Given the description of an element on the screen output the (x, y) to click on. 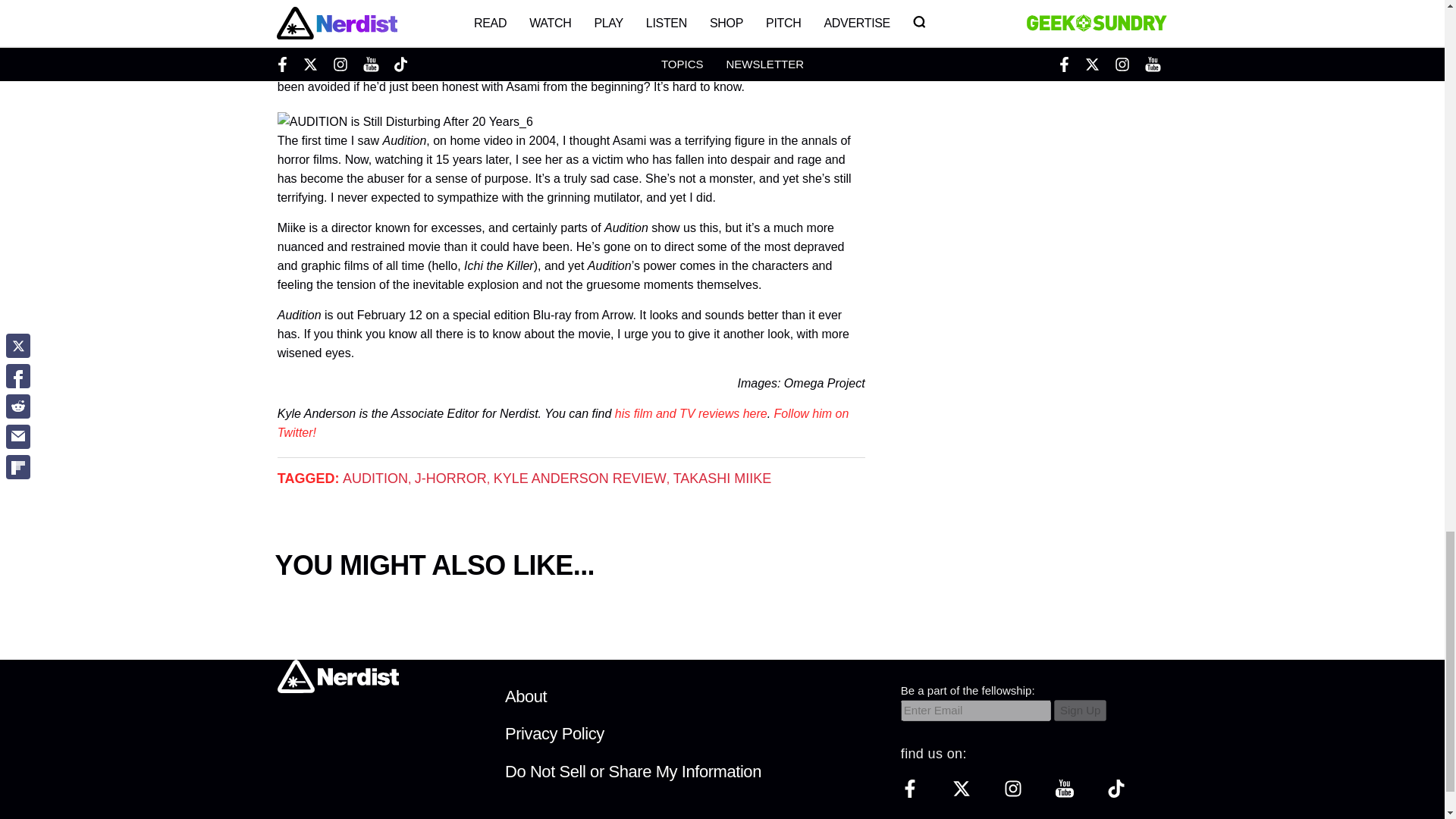
Privacy Policy (554, 732)
KYLE ANDERSON REVIEW (579, 478)
About (526, 696)
Do Not Sell or Share My Information (633, 771)
AUDITION (374, 478)
TAKASHI MIIKE (721, 478)
Sign Up (1080, 710)
Follow him on Twitter! (563, 422)
J-HORROR (450, 478)
his film and TV reviews here (690, 413)
